Given the description of an element on the screen output the (x, y) to click on. 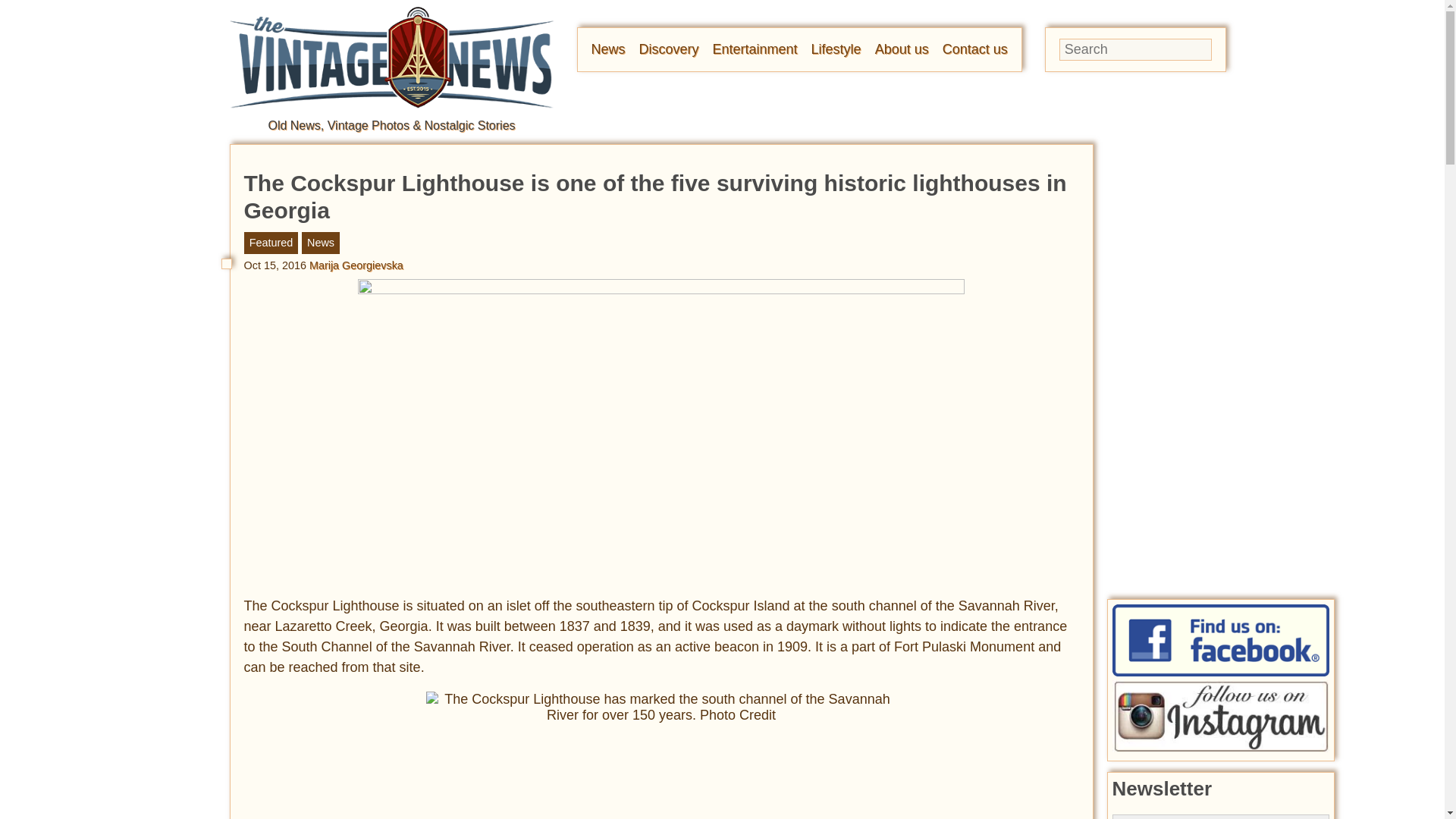
Contact us (974, 48)
Discovery (668, 48)
About us (901, 48)
Lifestyle (835, 48)
News (608, 48)
Entertainment (755, 48)
